Given the description of an element on the screen output the (x, y) to click on. 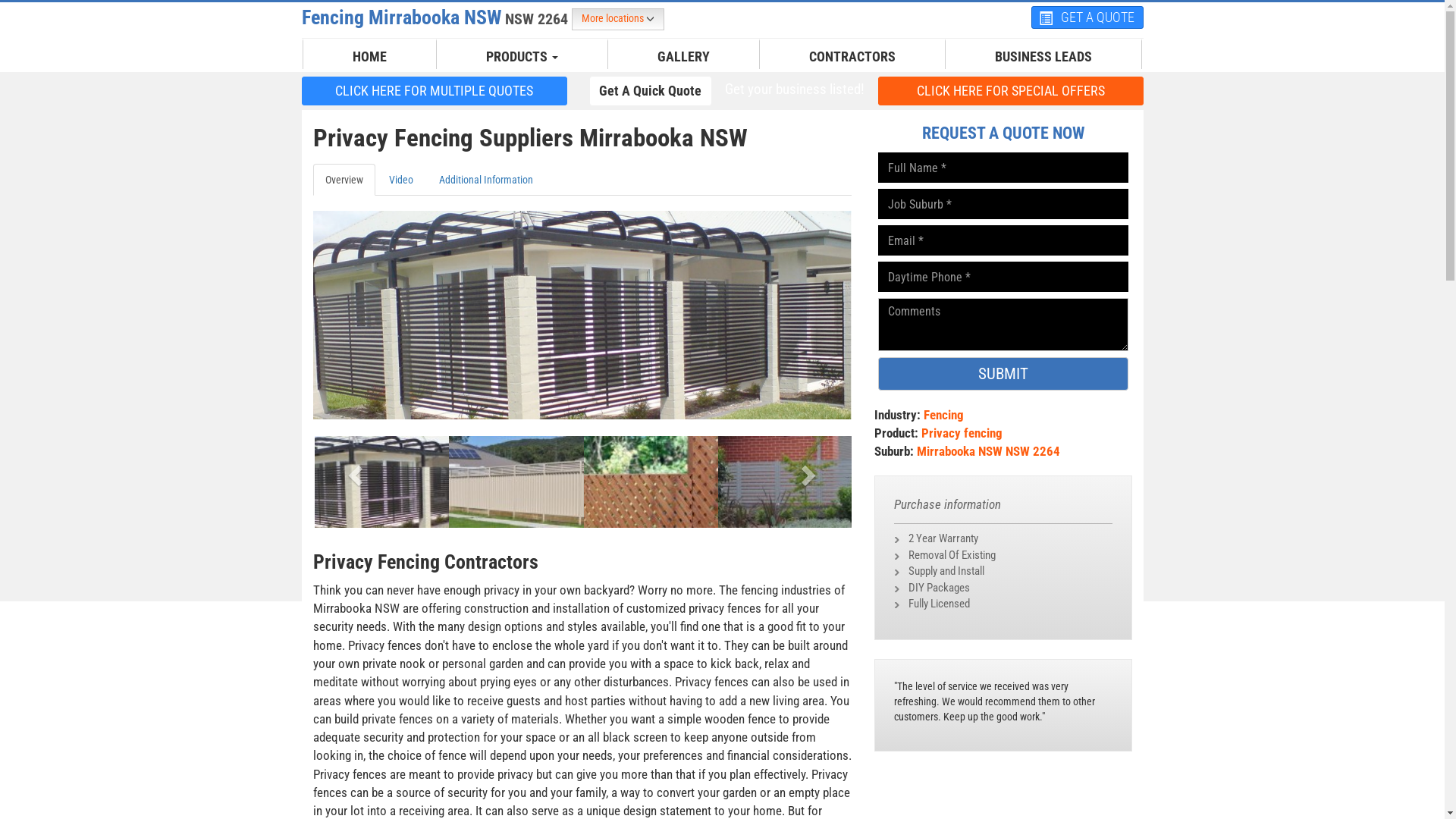
CLICK HERE FOR MULTIPLE QUOTES Element type: text (434, 90)
CLICK HERE FOR MULTIPLE QUOTES Element type: text (434, 90)
Get A Quick Quote Element type: text (650, 90)
GALLERY Element type: text (683, 56)
CLICK HERE FOR SPECIAL OFFERS Element type: text (1010, 90)
BUSINESS LEADS Element type: text (1042, 56)
SUBMIT Element type: text (1003, 373)
GET A QUOTE Element type: text (1087, 17)
CLICK HERE FOR SPECIAL OFFERS Element type: text (1010, 90)
Overview Element type: text (343, 179)
More locations Element type: text (617, 19)
HOME Element type: text (369, 56)
Get your business listed! Element type: text (793, 89)
PRODUCTS Element type: text (521, 56)
Fencing Mirrabooka NSW NSW 2264 Element type: text (436, 17)
prev Element type: hover (352, 470)
Video Element type: text (400, 179)
CONTRACTORS Element type: text (851, 56)
Get A Quick Quote Element type: text (650, 90)
Additional Information Element type: text (485, 179)
